Given the description of an element on the screen output the (x, y) to click on. 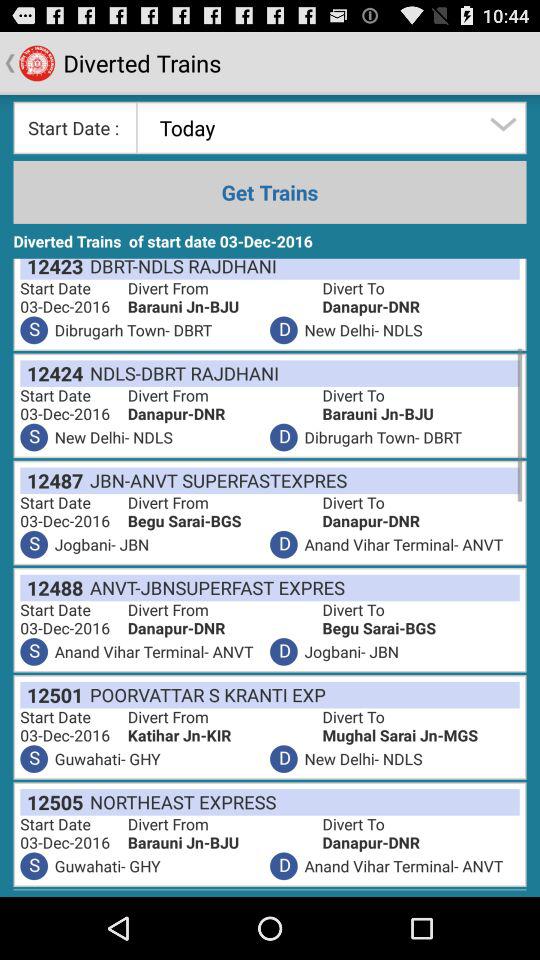
turn off icon below the   d app (214, 587)
